Given the description of an element on the screen output the (x, y) to click on. 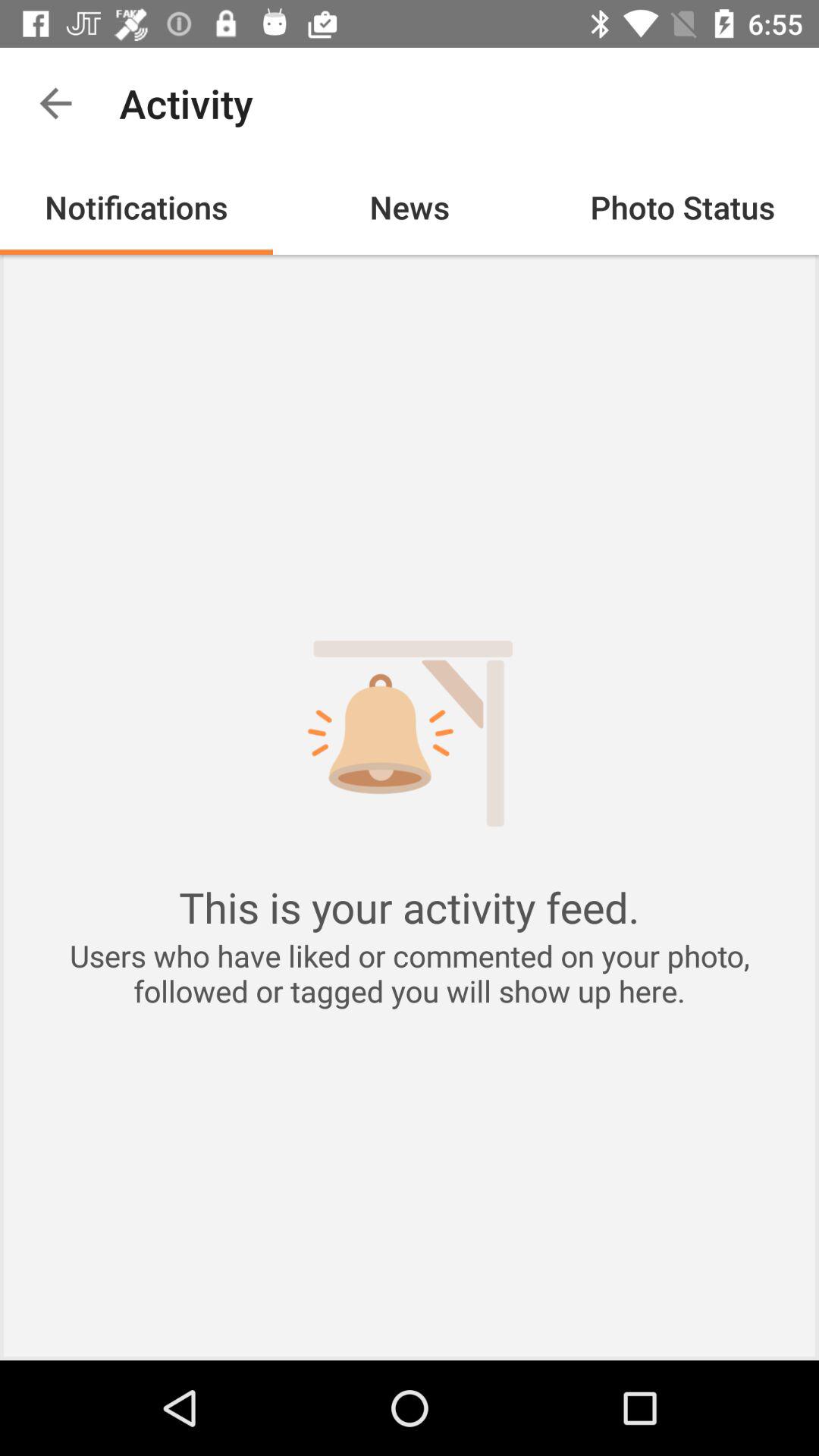
open item above notifications icon (55, 103)
